Given the description of an element on the screen output the (x, y) to click on. 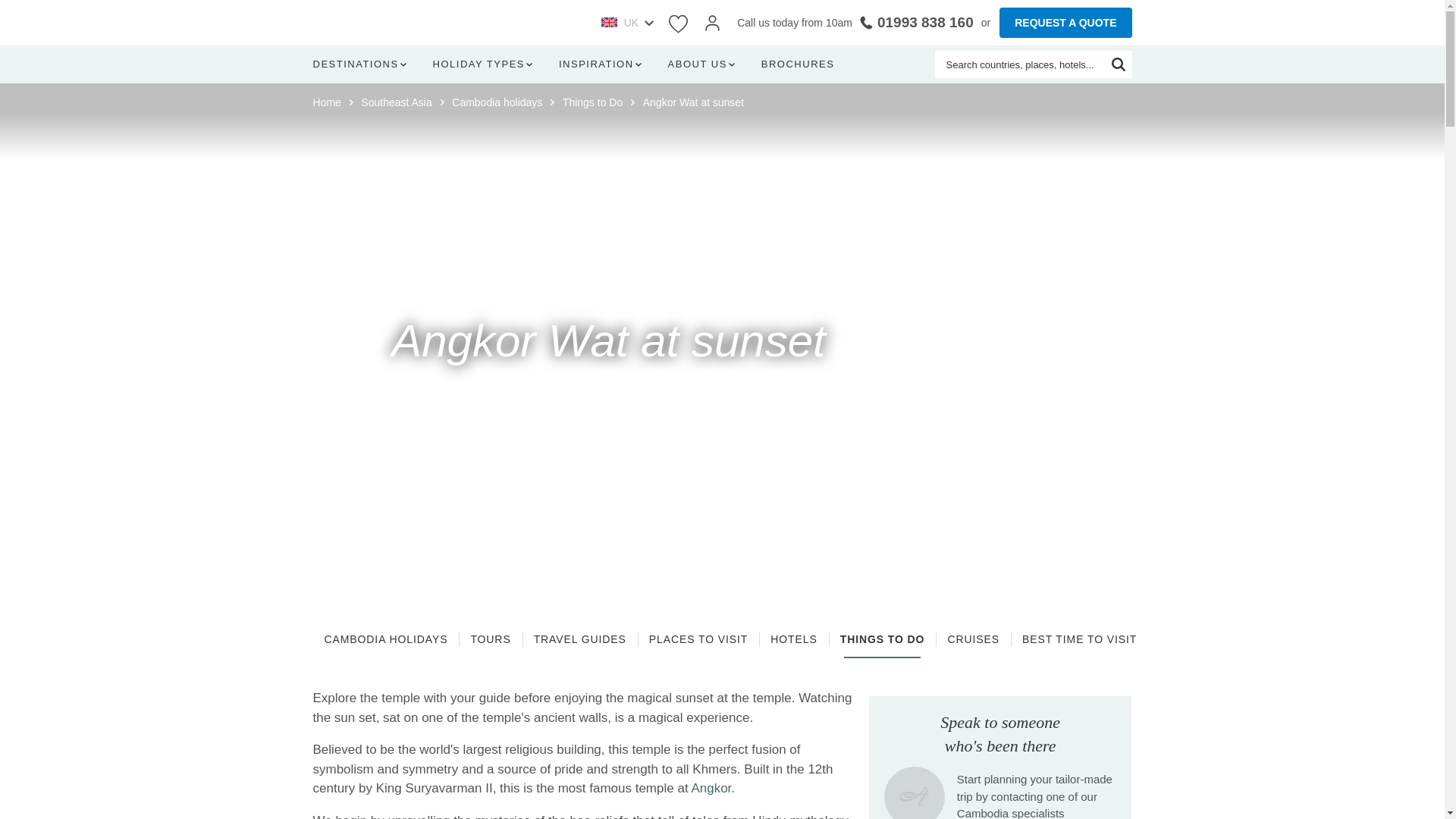
DESTINATIONS (363, 64)
REQUEST A QUOTE (1064, 22)
UK (626, 22)
